Given the description of an element on the screen output the (x, y) to click on. 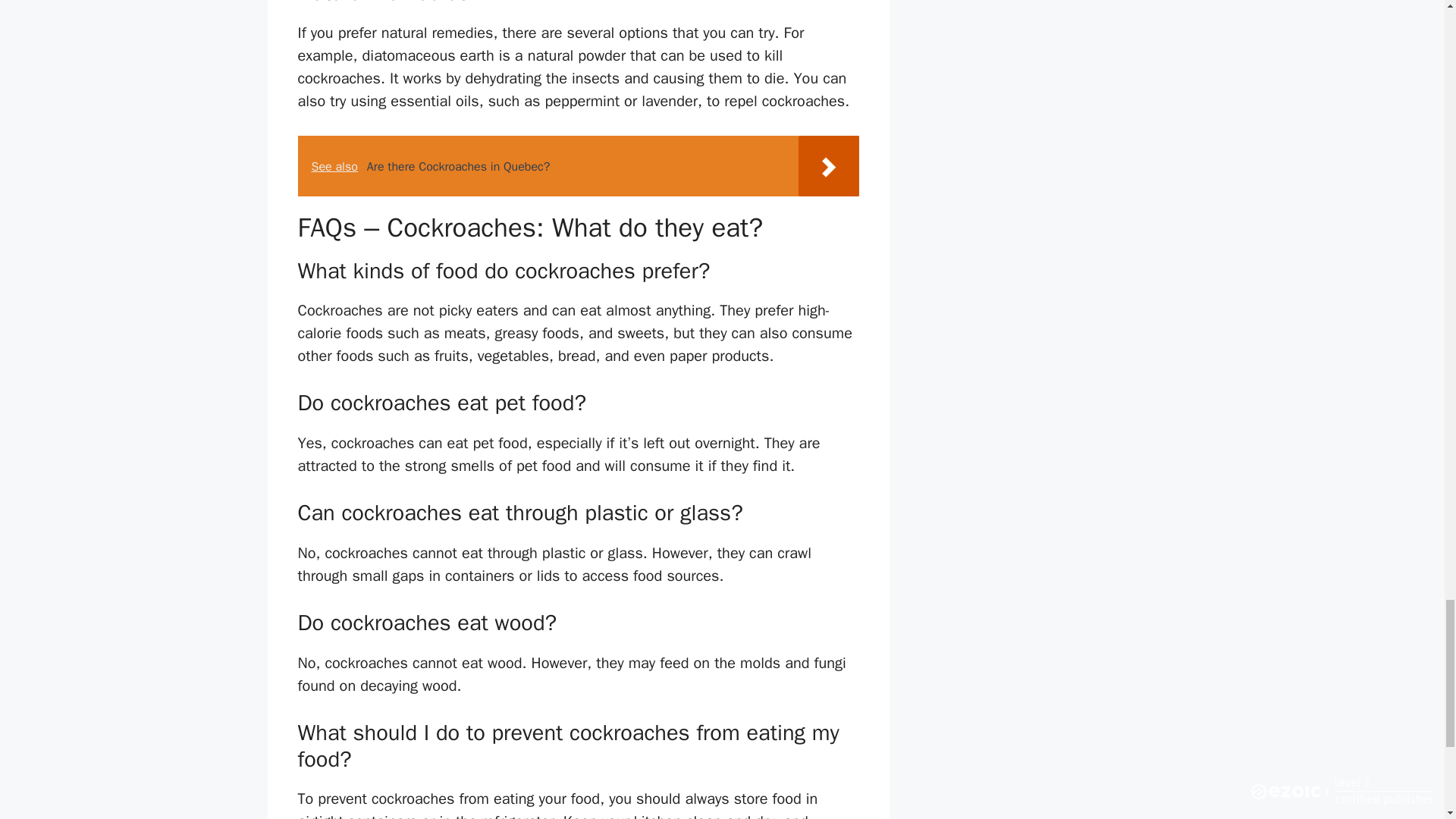
See also  Are there Cockroaches in Quebec? (578, 165)
